Given the description of an element on the screen output the (x, y) to click on. 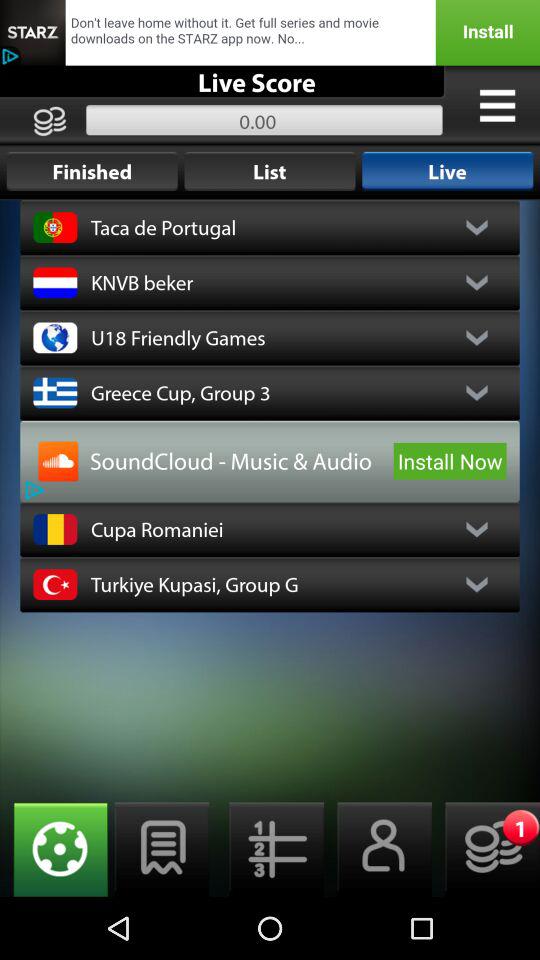
sightings (54, 849)
